Given the description of an element on the screen output the (x, y) to click on. 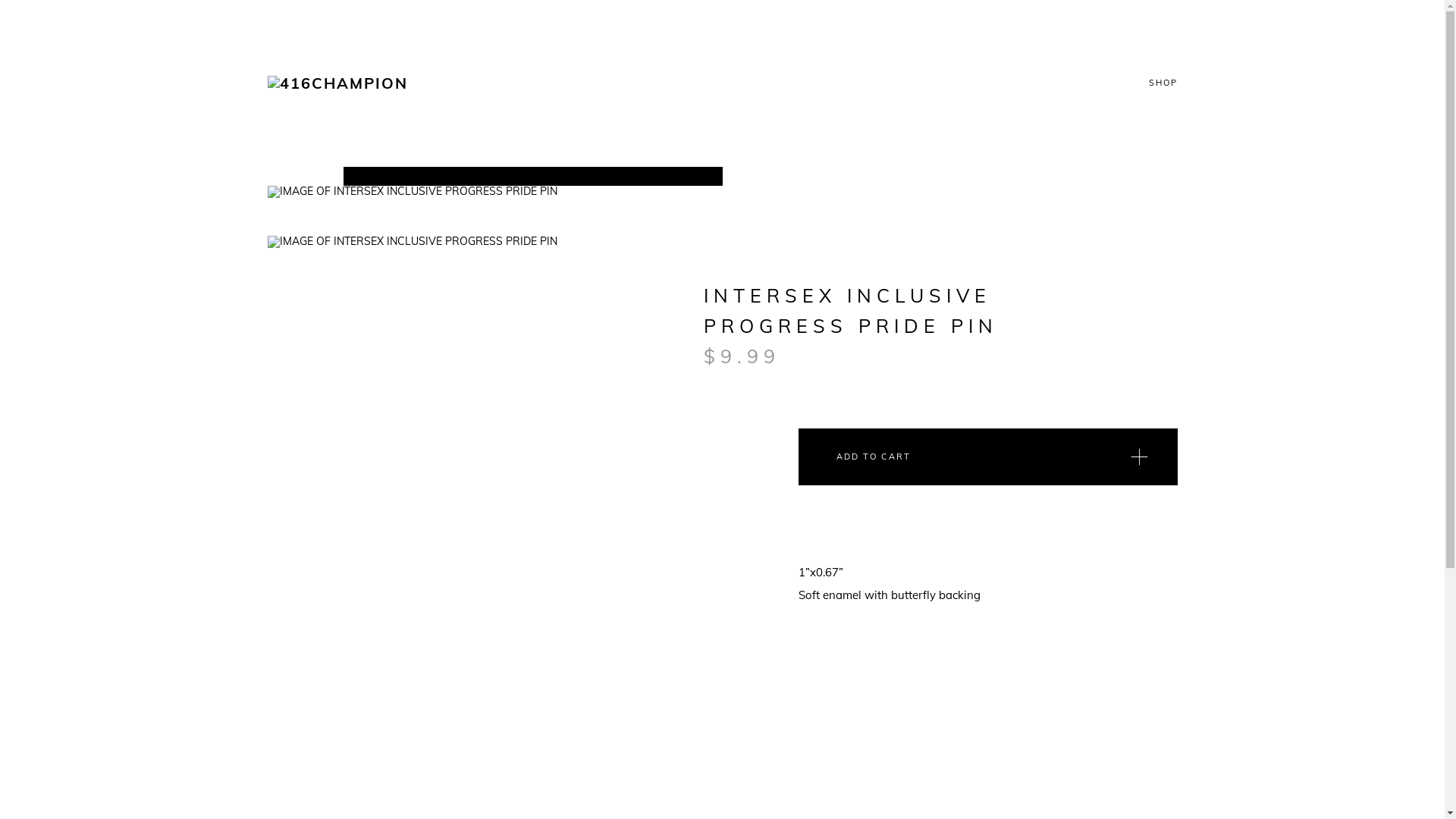
SHOP Element type: text (1162, 83)
416CHAMPION Element type: hover (336, 83)
